Given the description of an element on the screen output the (x, y) to click on. 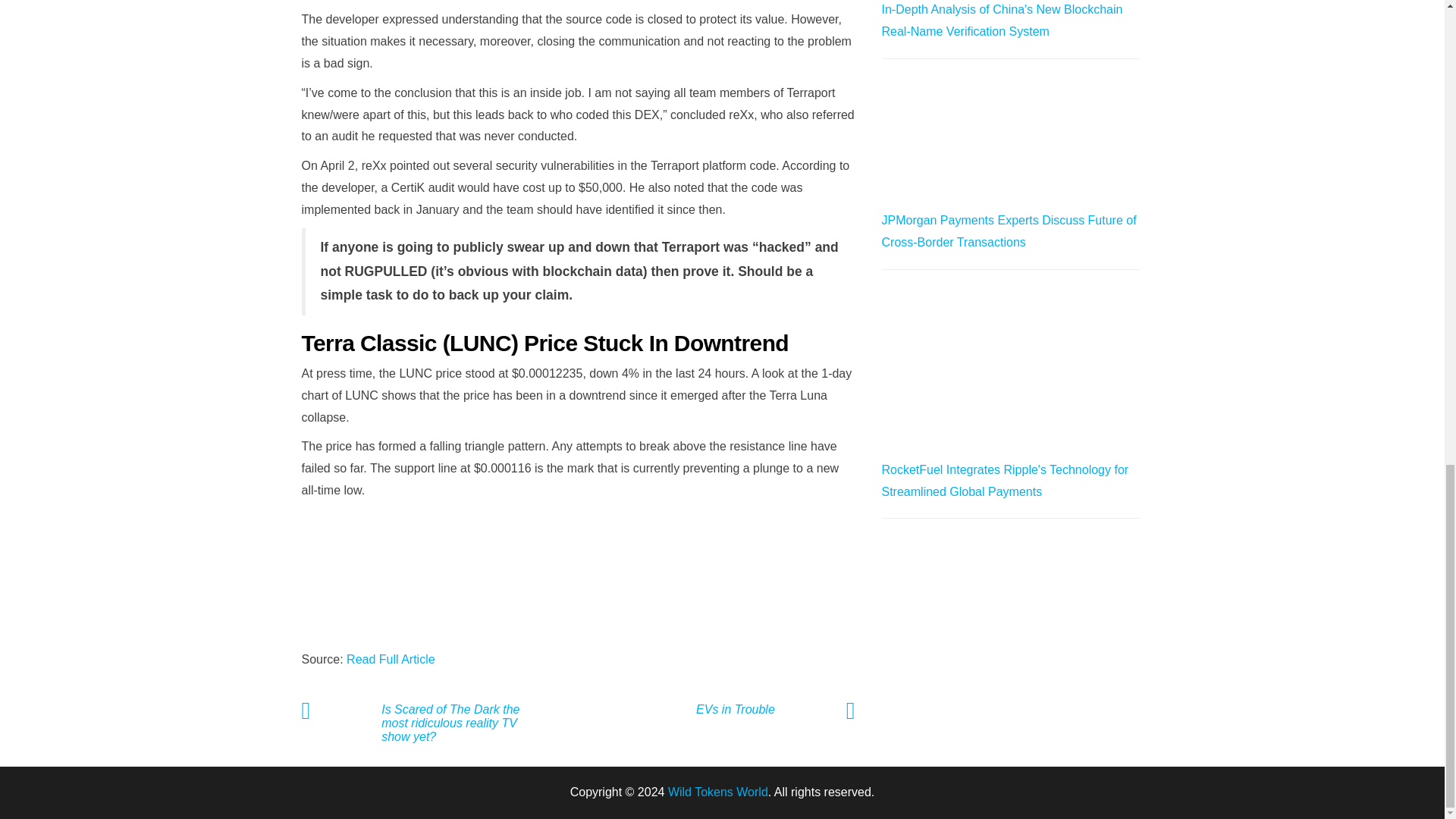
Wild Tokens World (718, 791)
Read Full Article (390, 658)
EVs in Trouble (731, 709)
